Given the description of an element on the screen output the (x, y) to click on. 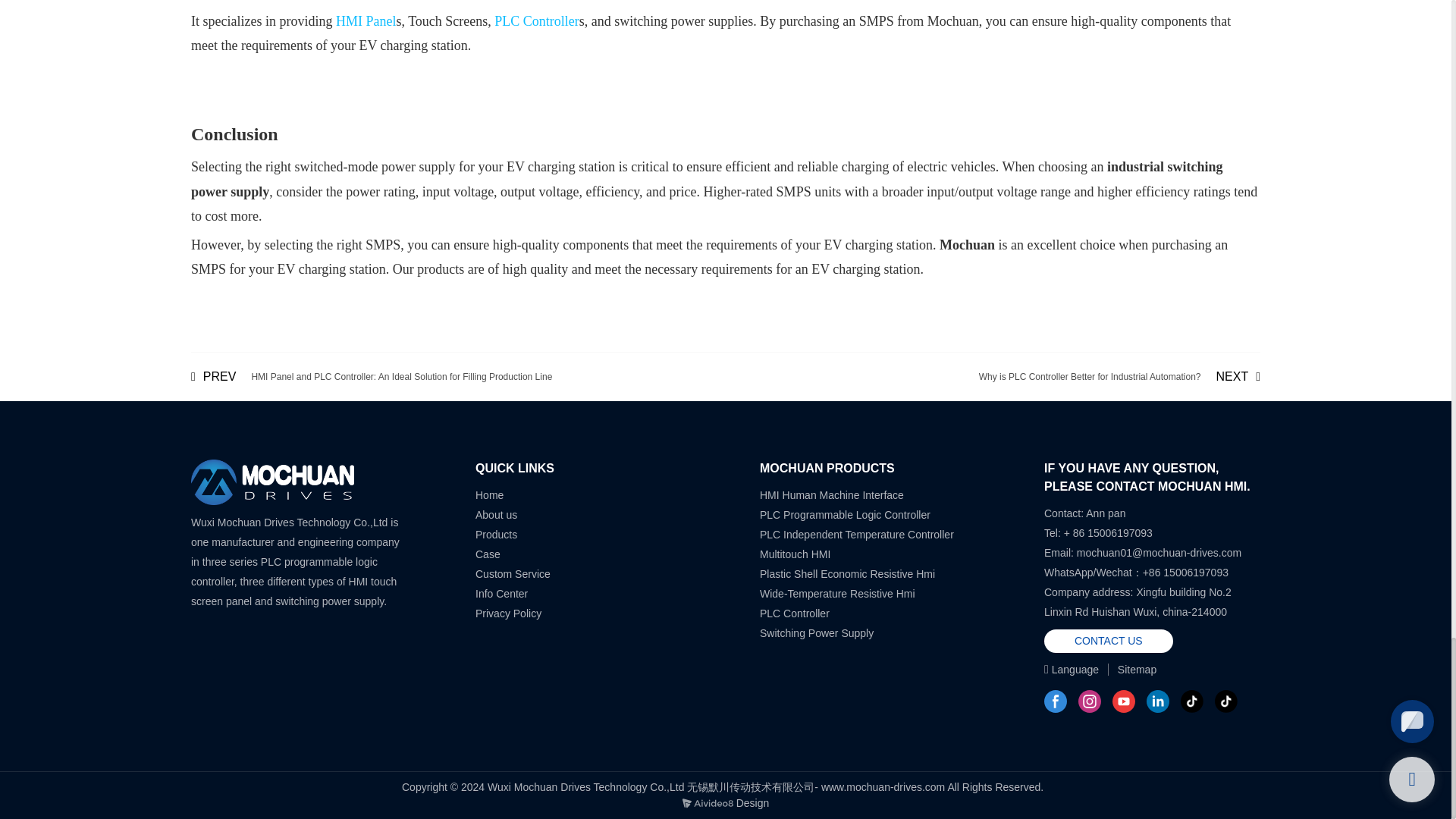
PLC Controller (537, 20)
HMI Panel (366, 20)
